Given the description of an element on the screen output the (x, y) to click on. 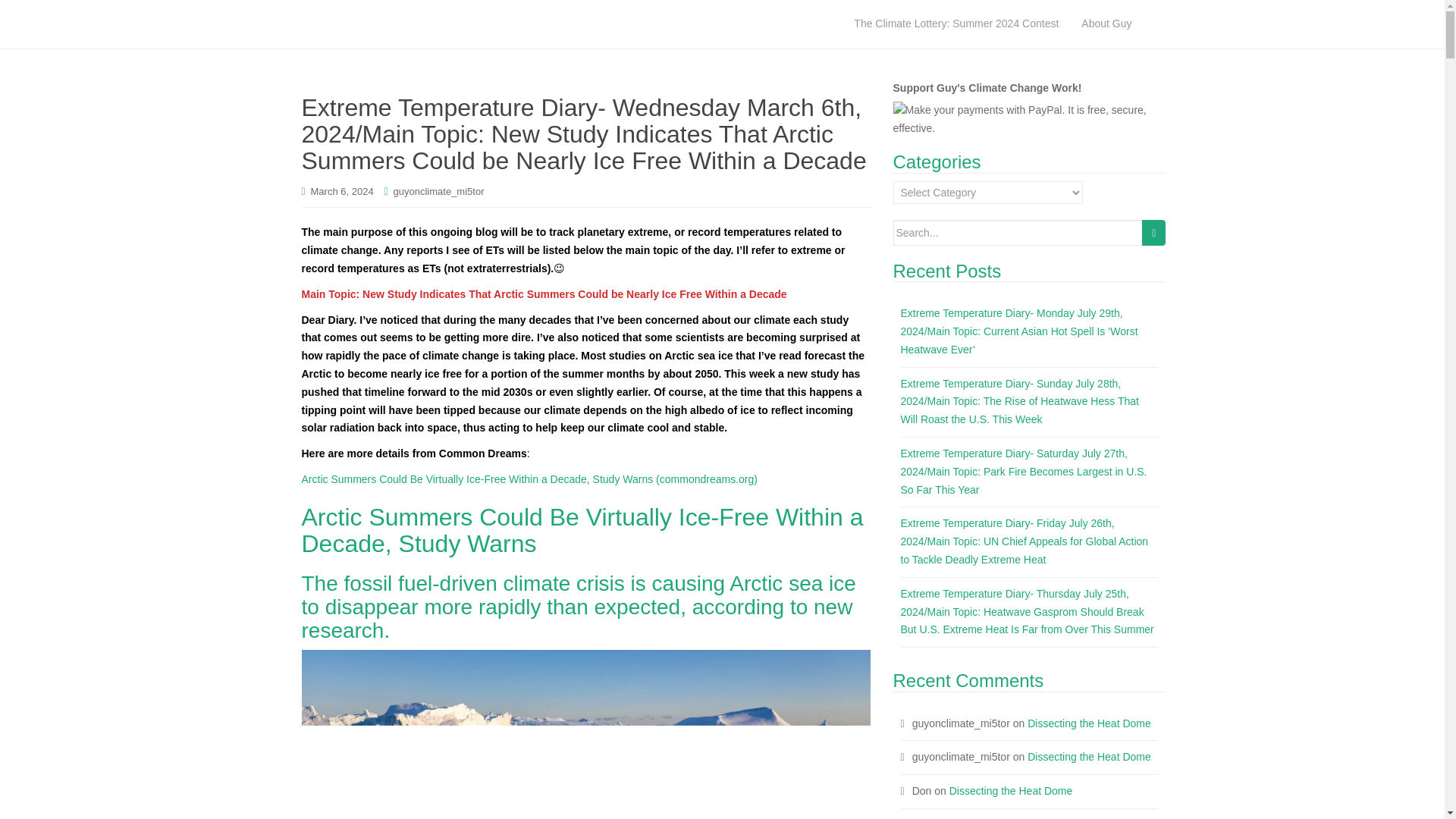
About Guy (1106, 24)
The Climate Lottery: Summer 2024 Contest (956, 24)
The Climate Lottery: Summer 2024 Contest (956, 24)
About Guy (1106, 24)
March 6, 2024 (342, 191)
